Given the description of an element on the screen output the (x, y) to click on. 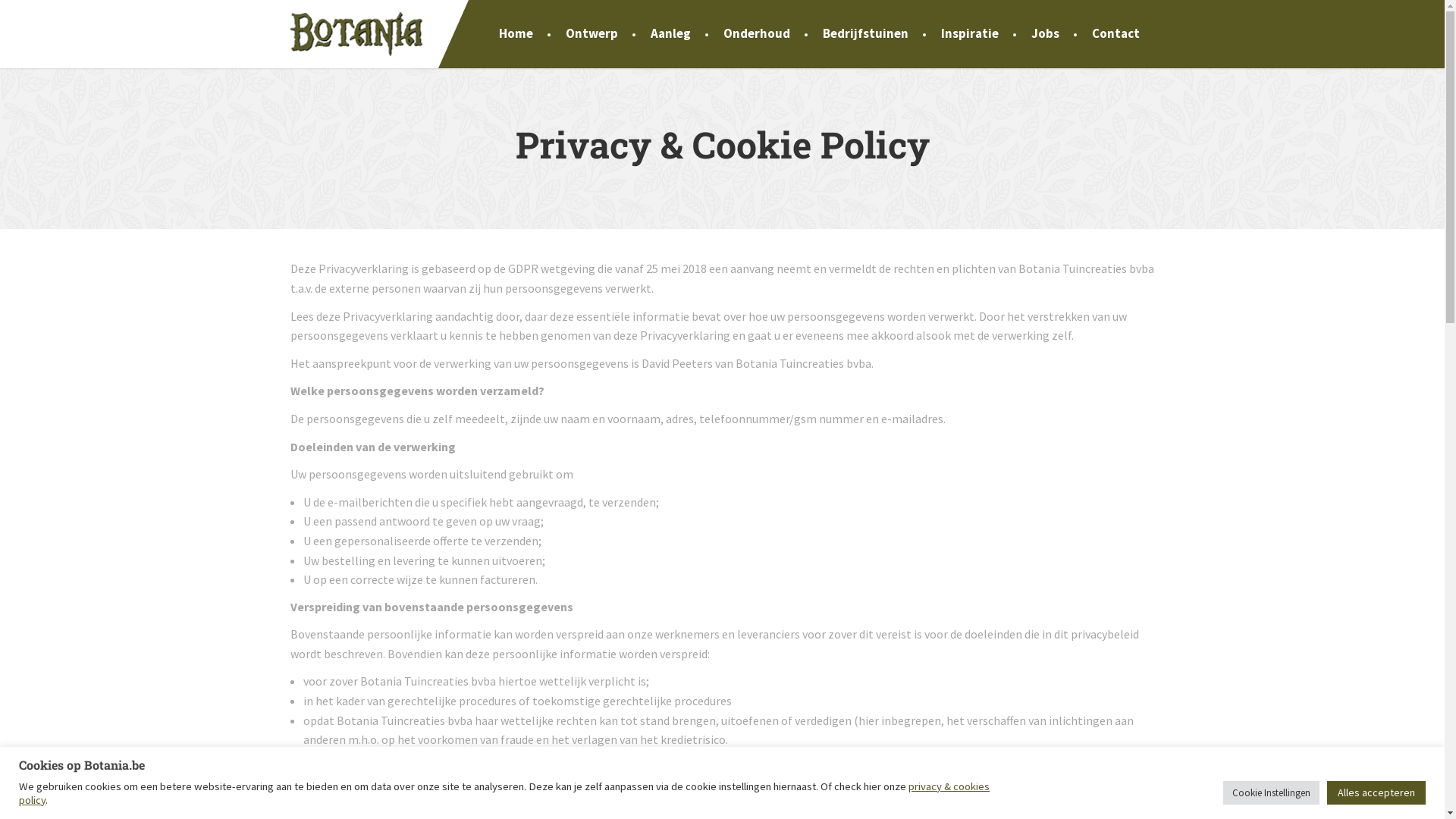
Bedrijfstuinen Element type: text (864, 34)
Alles accepteren Element type: text (1376, 792)
Ontwerp Element type: text (591, 34)
Aanleg Element type: text (670, 34)
Botania Tuincreaties Element type: hover (355, 31)
Inspiratie Element type: text (969, 34)
Home Element type: text (515, 34)
Onderhoud Element type: text (756, 34)
Jobs Element type: text (1045, 34)
privacy & cookies policy Element type: text (503, 792)
Contact Element type: text (1115, 34)
Cookie Instellingen Element type: text (1271, 792)
